Given the description of an element on the screen output the (x, y) to click on. 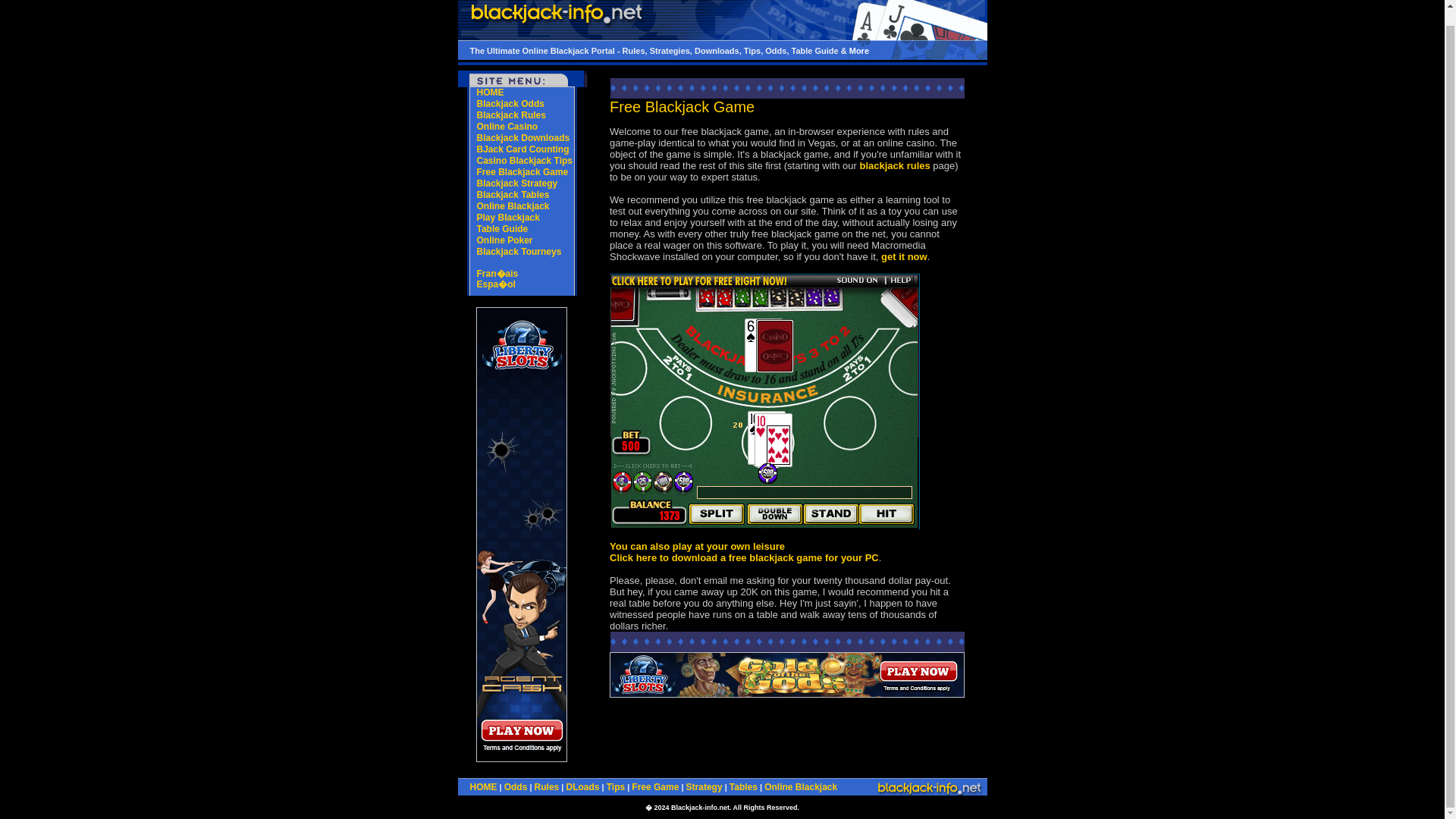
Blackjack Odds (509, 103)
Blackjack Downloads (522, 137)
Online Casino (506, 126)
Rules (546, 787)
Casino Blackjack Tips (524, 160)
Online Blackjack (512, 205)
Tips (615, 787)
Play Blackjack (507, 217)
HOME (483, 787)
More (858, 49)
Blackjack Tables (512, 194)
Online Blackjack (800, 787)
blackjack rules (894, 165)
Tables (743, 787)
Blackjack Strategy (516, 183)
